Given the description of an element on the screen output the (x, y) to click on. 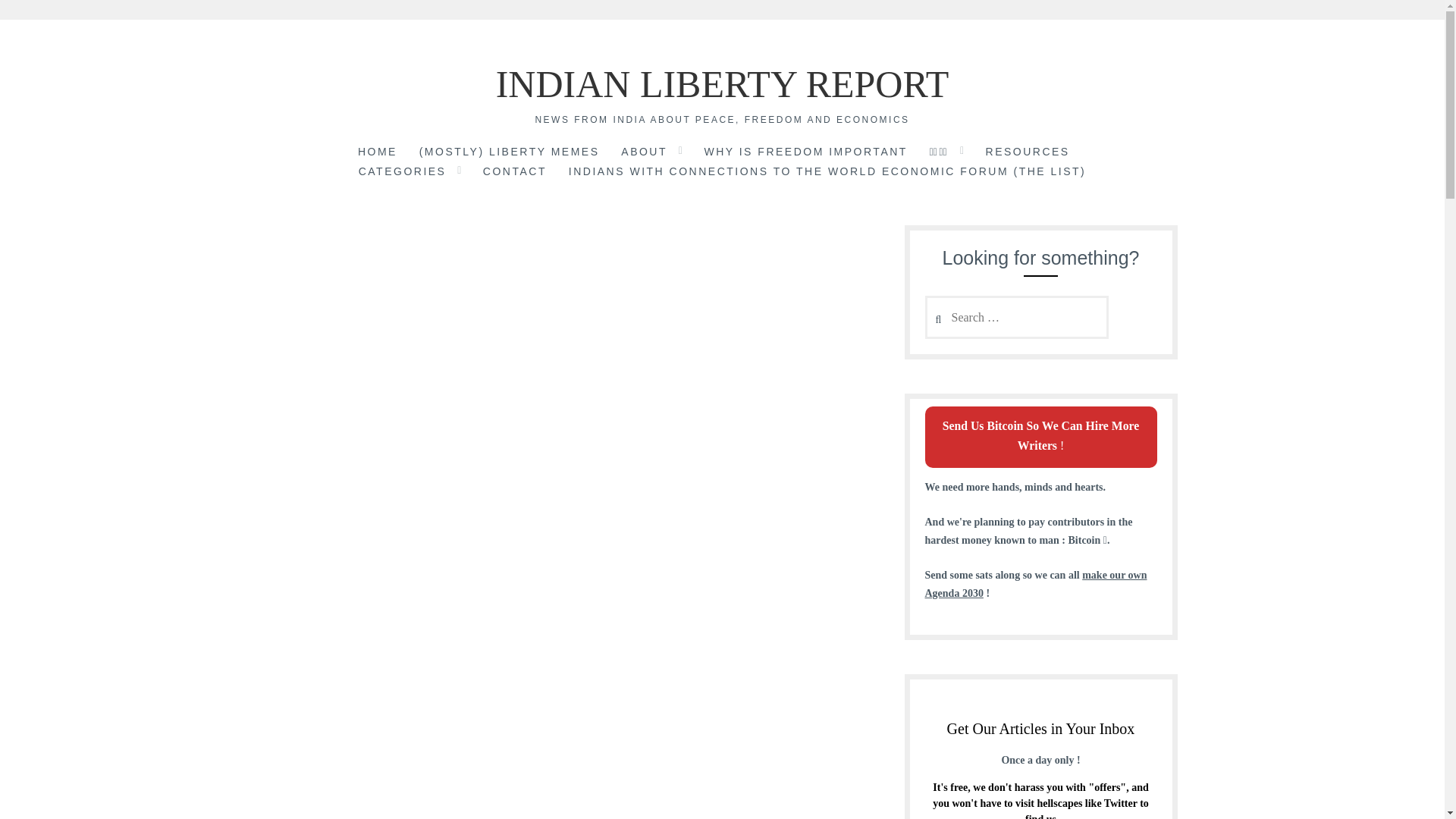
ABOUT (643, 152)
CATEGORIES (402, 172)
HOME (377, 152)
WHY IS FREEDOM IMPORTANT (805, 152)
CONTACT (515, 172)
RESOURCES (1027, 152)
INDIAN LIBERTY REPORT (722, 84)
